Given the description of an element on the screen output the (x, y) to click on. 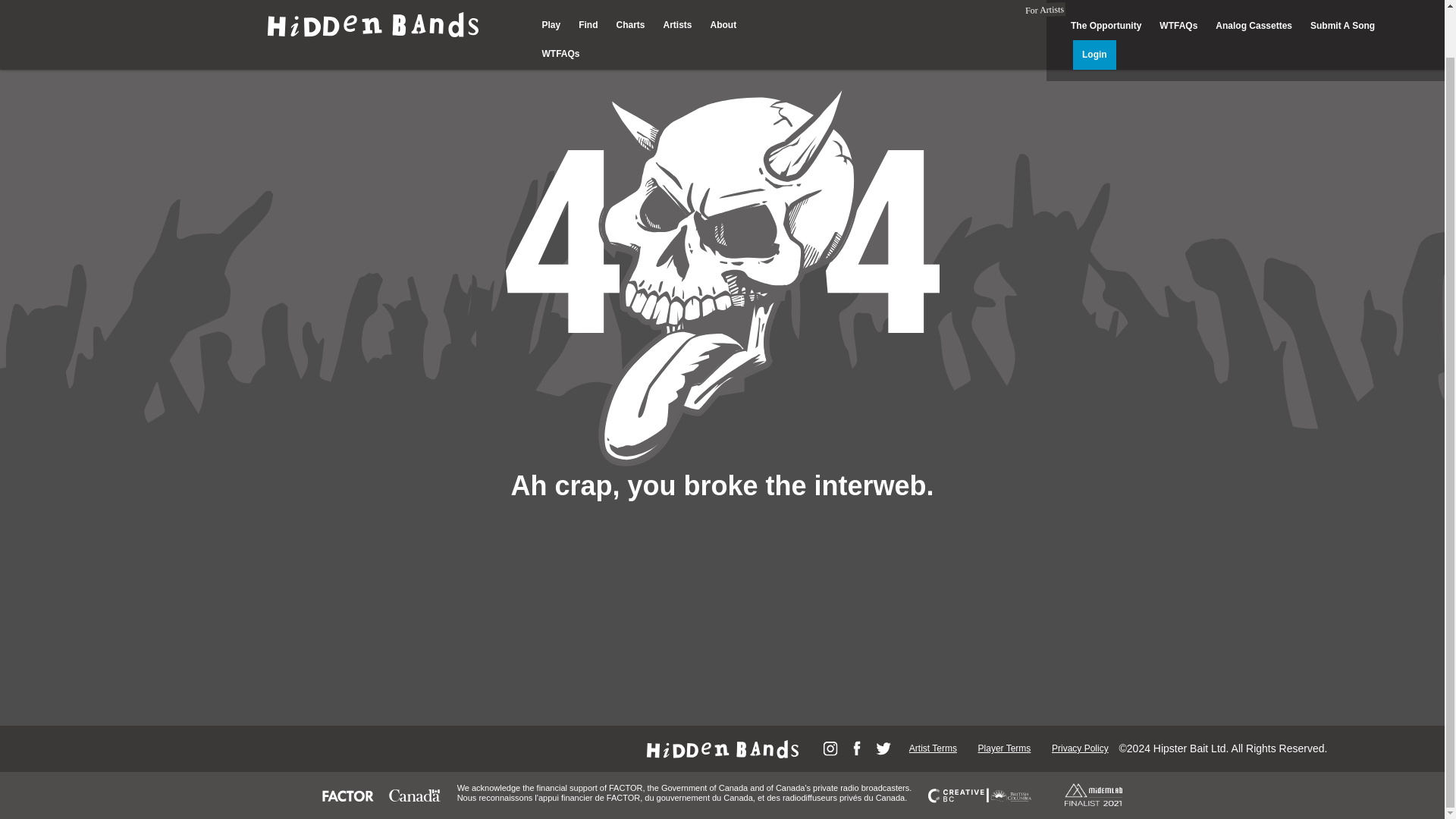
Instagram (830, 748)
WTFAQs (560, 8)
Login (1094, 9)
Facebook (856, 748)
Player Terms (1004, 748)
Twitter (883, 748)
Privacy Policy (1079, 748)
Artist Terms (932, 748)
